Given the description of an element on the screen output the (x, y) to click on. 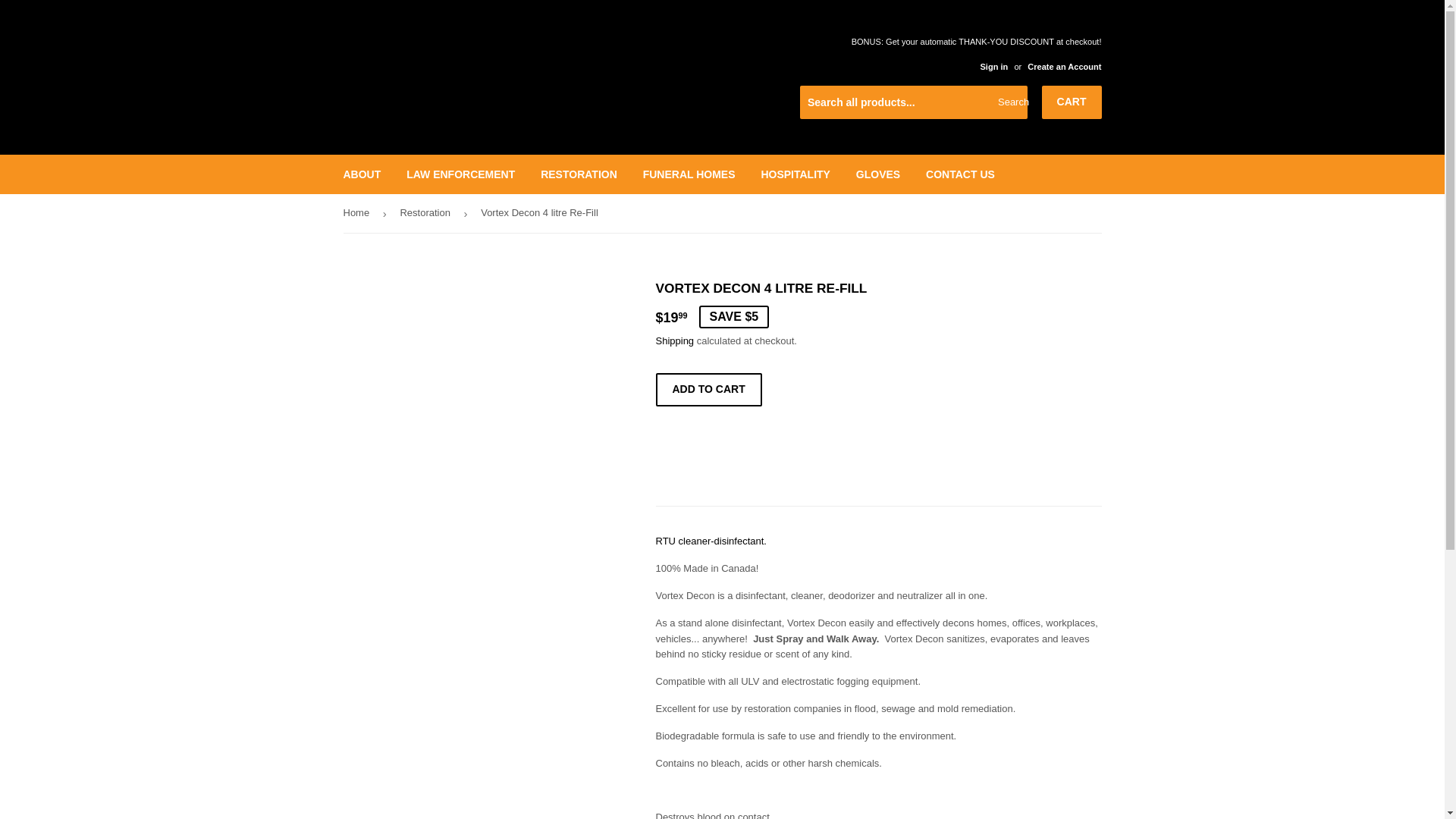
CART (1072, 101)
FUNERAL HOMES (688, 174)
GLOVES (877, 174)
Sign in (993, 66)
ADD TO CART (708, 389)
Search (1009, 102)
Home (358, 213)
Back to the frontpage (358, 213)
CONTACT US (960, 174)
LAW ENFORCEMENT (459, 174)
Restoration (426, 213)
ABOUT (362, 174)
Shipping (674, 340)
HOSPITALITY (795, 174)
RESTORATION (578, 174)
